Given the description of an element on the screen output the (x, y) to click on. 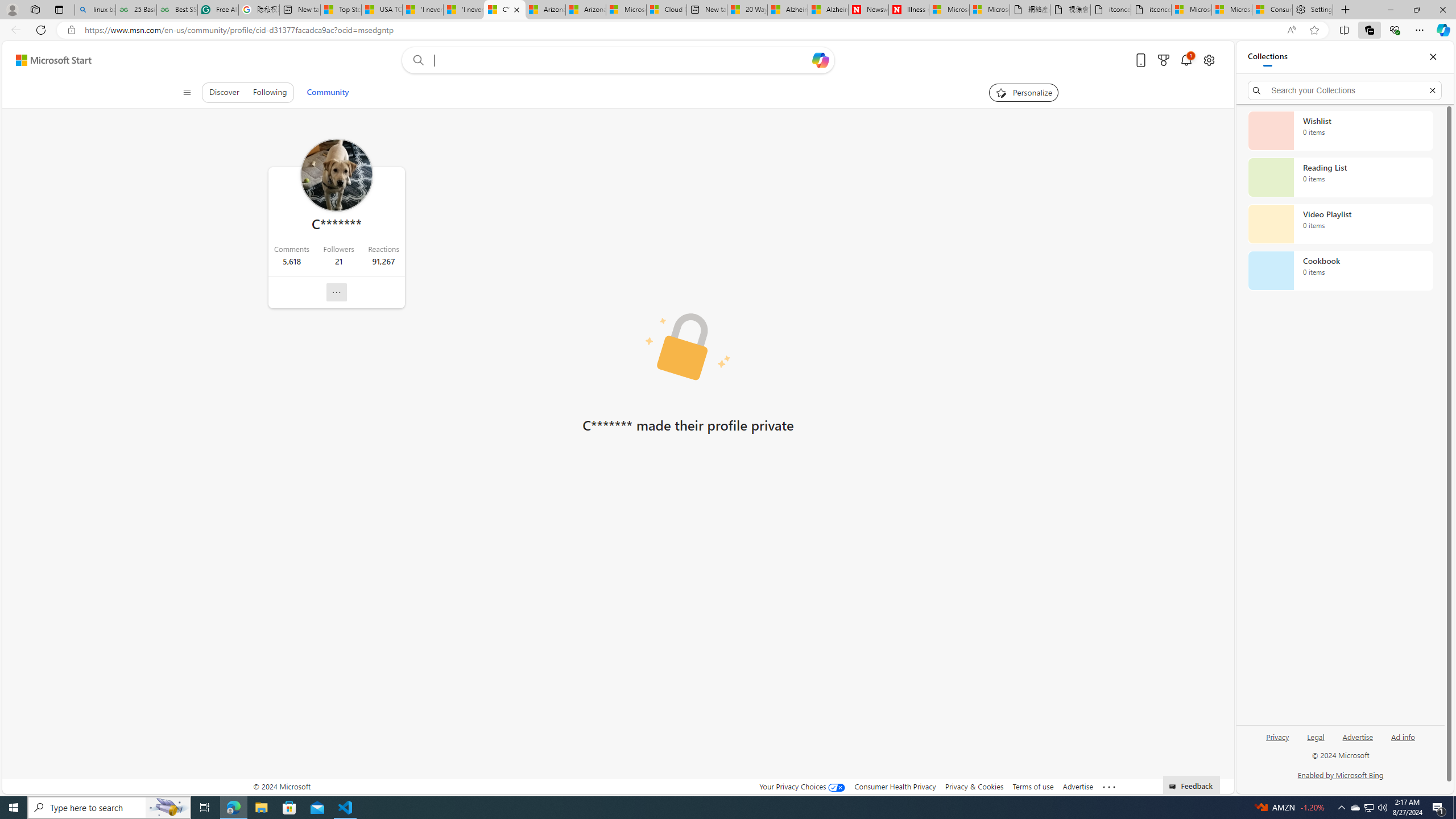
USA TODAY - MSN (381, 9)
Profile Picture (335, 174)
Cloud Computing Services | Microsoft Azure (666, 9)
